Given the description of an element on the screen output the (x, y) to click on. 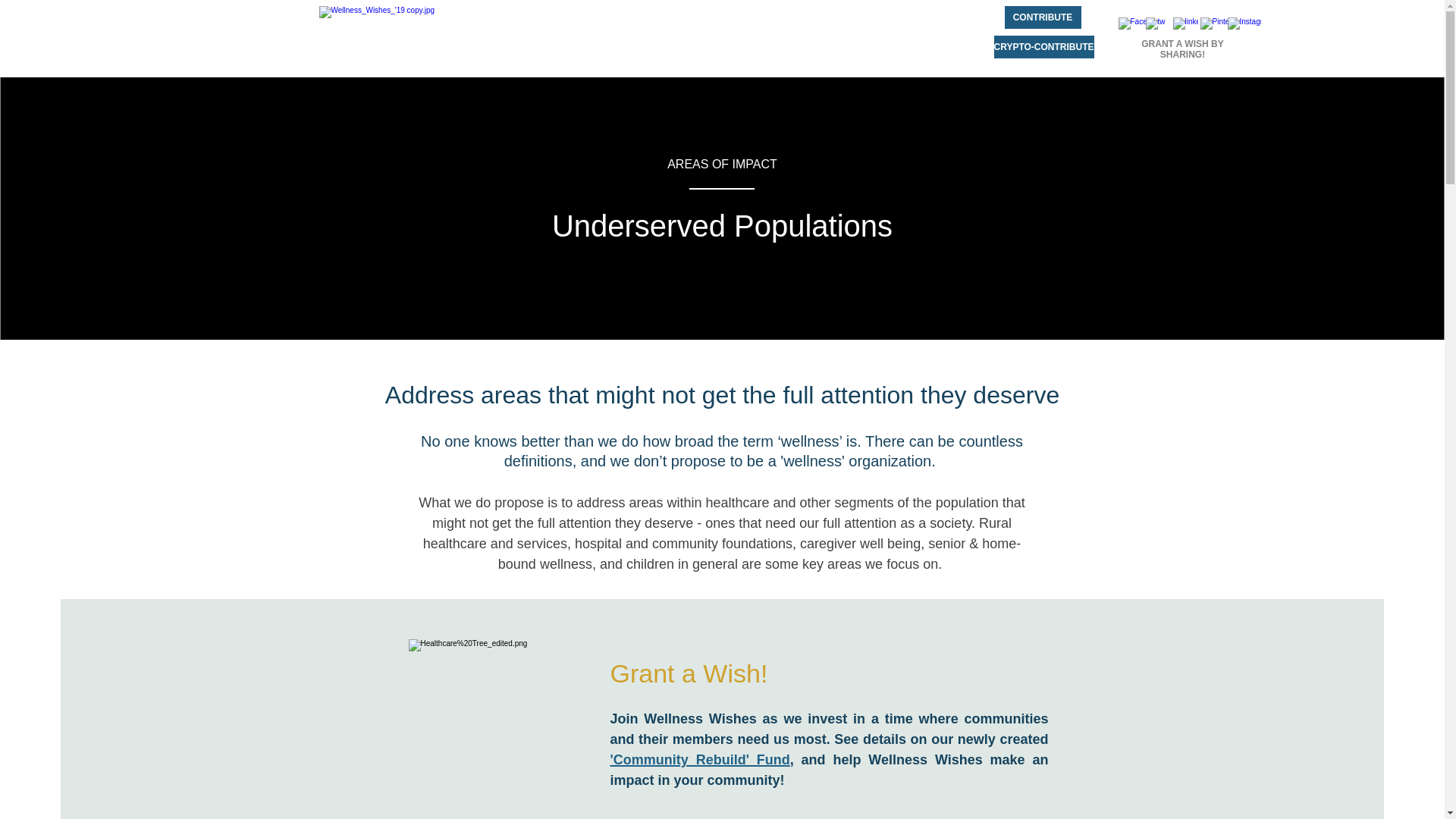
'Community Rebuild' Fund (699, 759)
CONTRIBUTE (1042, 16)
CRYPTO-CONTRIBUTE (1042, 47)
